Given the description of an element on the screen output the (x, y) to click on. 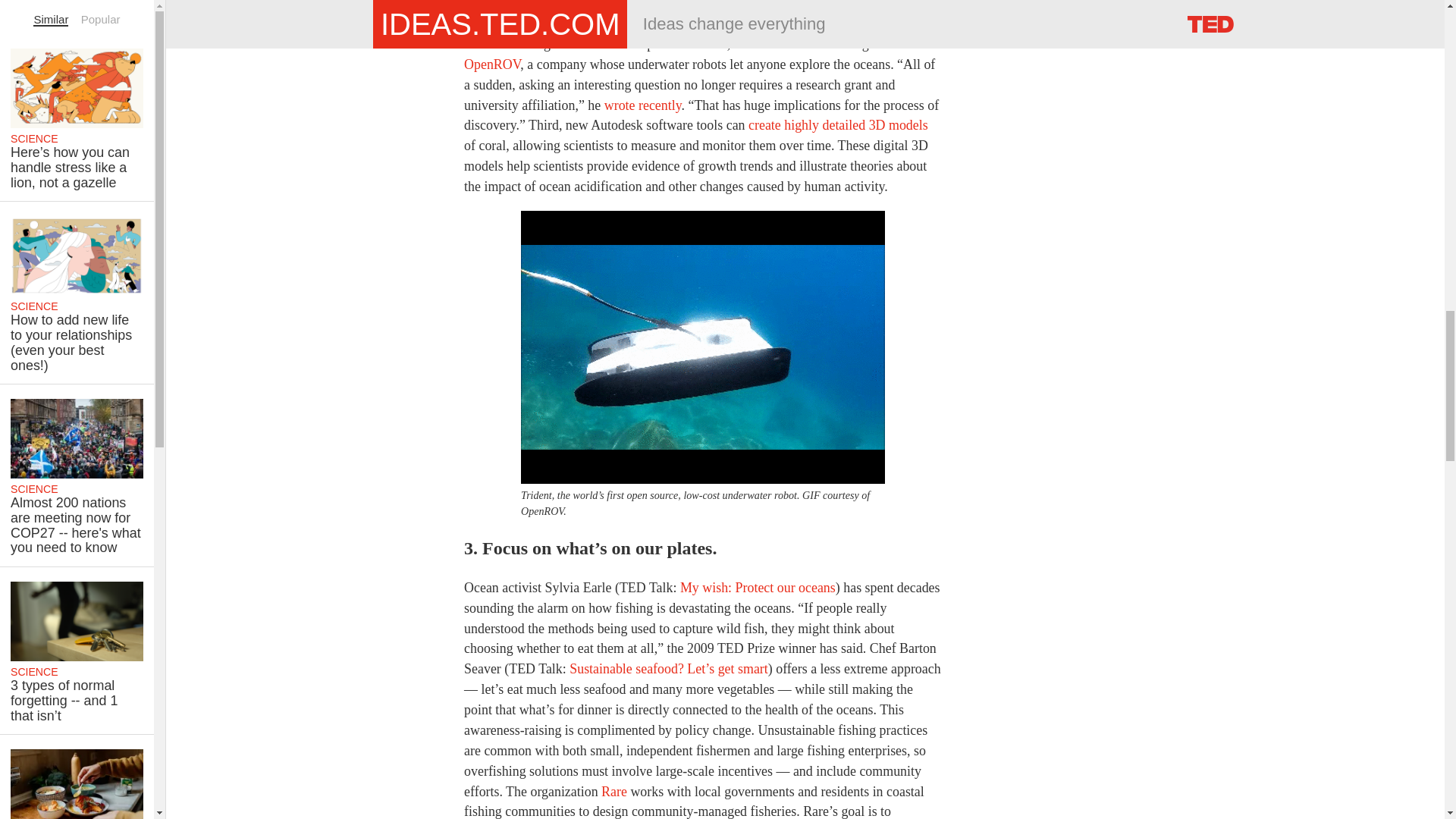
create highly detailed 3D models (838, 124)
Rare (614, 791)
OpenROV (491, 64)
Google Earth (500, 23)
My wish: Protect our oceans (757, 587)
The XL Catlin Seaview Survey (707, 23)
wrote recently (642, 105)
